Given the description of an element on the screen output the (x, y) to click on. 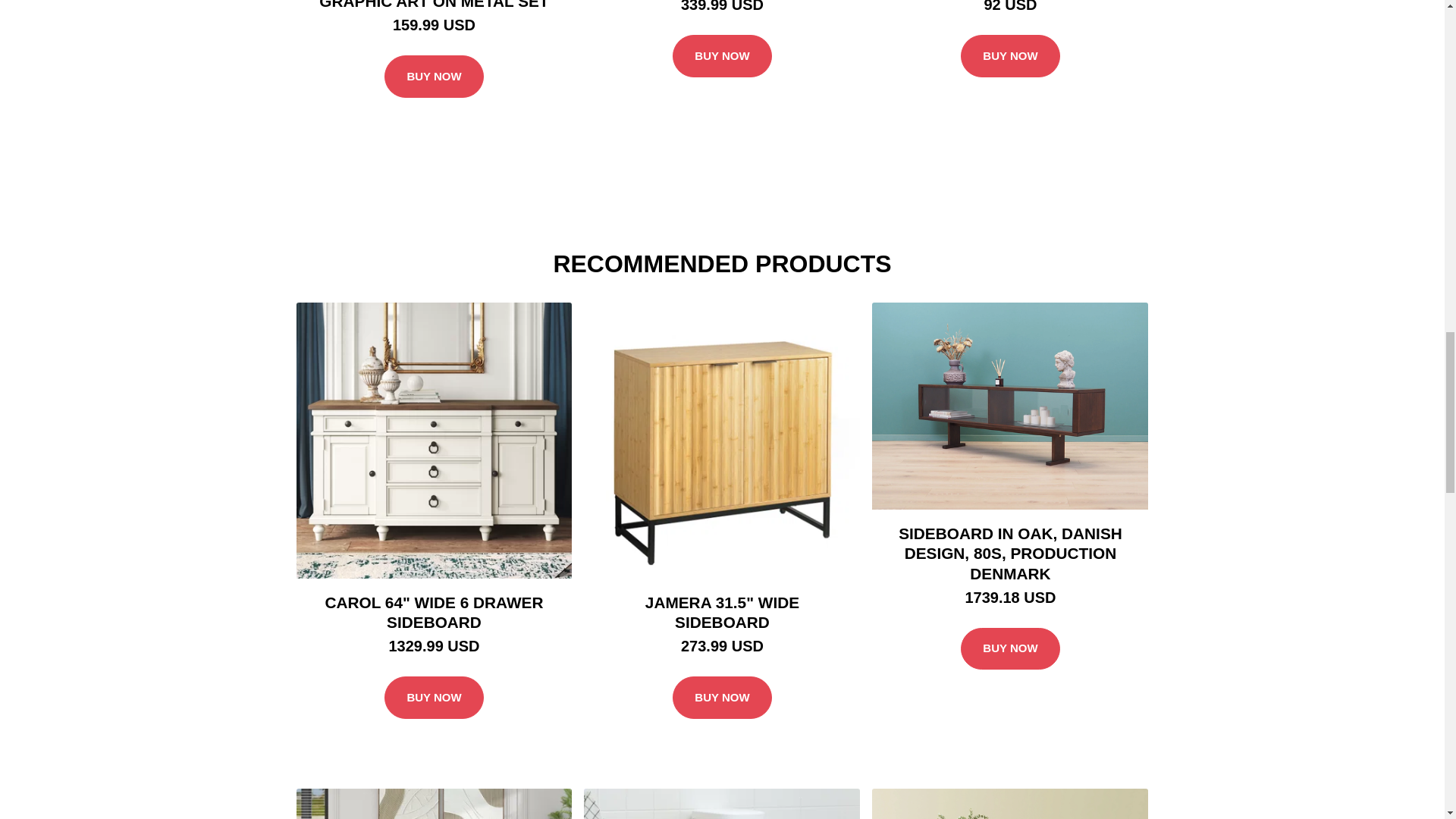
BUY NOW (433, 76)
BUY NOW (1009, 55)
CAROL 64" WIDE 6 DRAWER SIDEBOARD (433, 612)
BUY NOW (721, 697)
BUY NOW (1009, 649)
JAMERA 31.5" WIDE SIDEBOARD (722, 612)
BUY NOW (433, 697)
SIDEBOARD IN OAK, DANISH DESIGN, 80S, PRODUCTION DENMARK (1010, 553)
BUY NOW (721, 55)
